Given the description of an element on the screen output the (x, y) to click on. 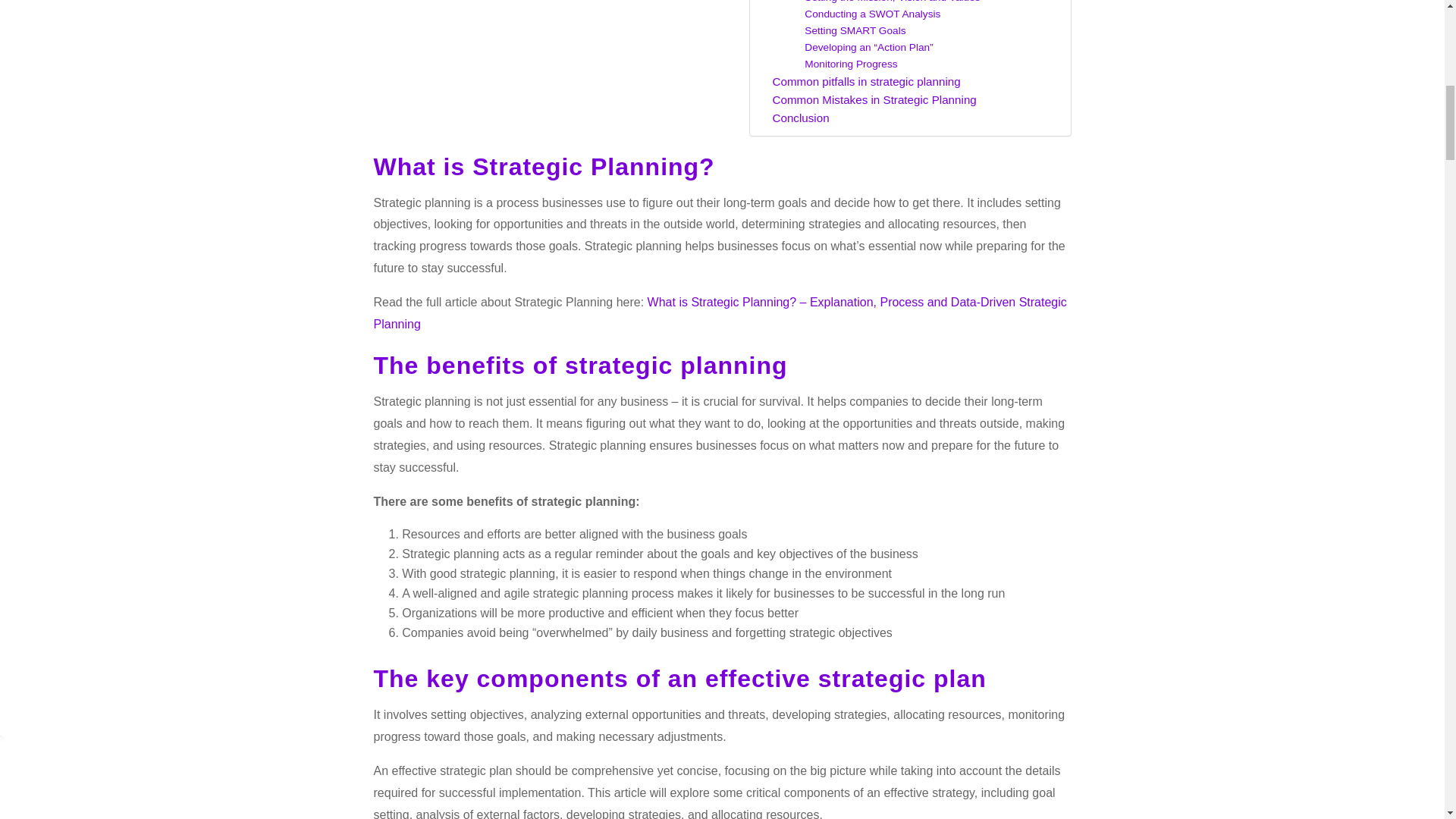
Common Mistakes in Strategic Planning (873, 99)
Setting SMART Goals (855, 30)
Setting the Mission, Vision and Values (892, 2)
Monitoring Progress (850, 64)
Common pitfalls in strategic planning (865, 81)
Conclusion (799, 117)
Conducting a SWOT Analysis (872, 13)
